Given the description of an element on the screen output the (x, y) to click on. 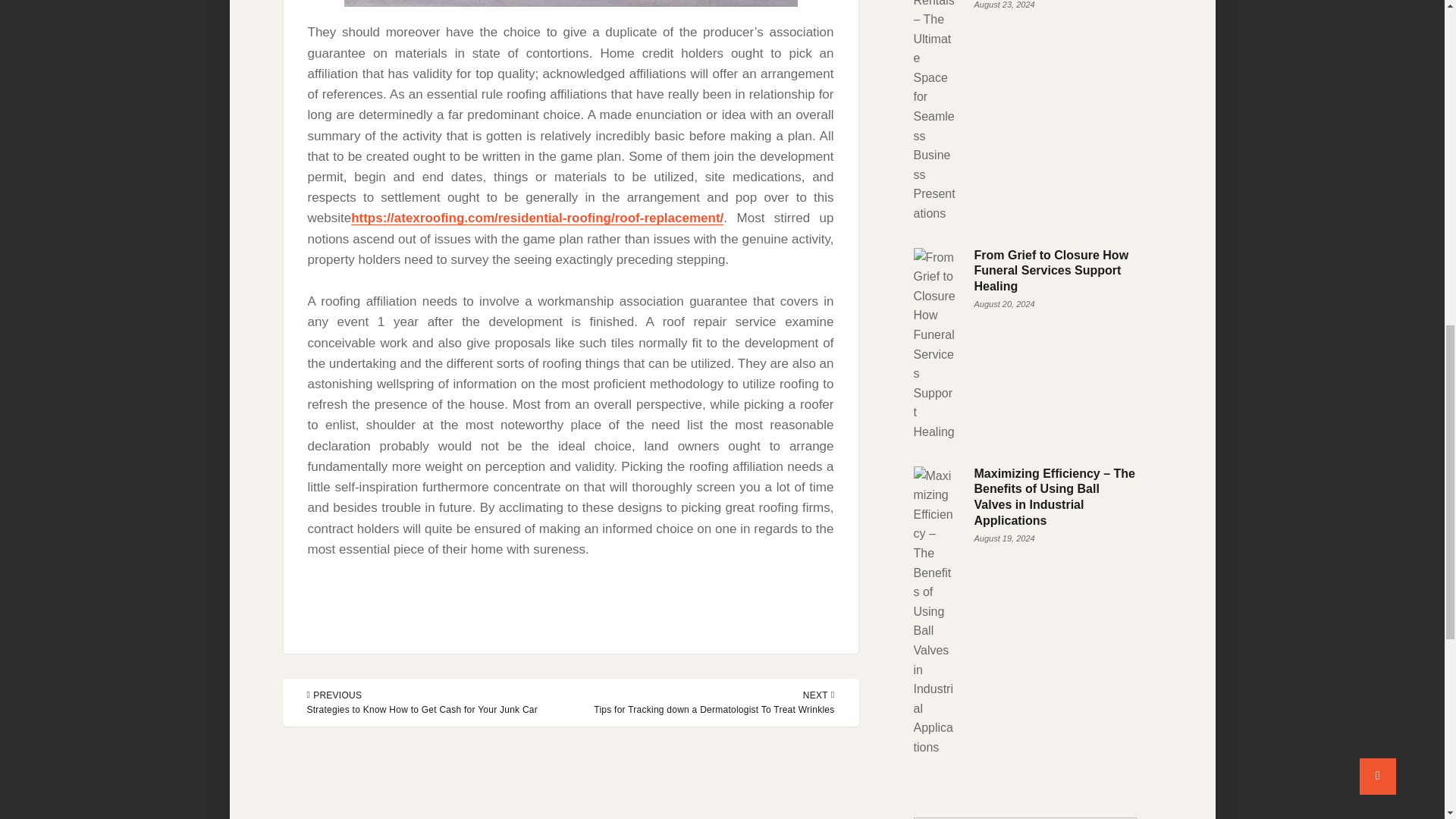
From Grief to Closure How Funeral Services Support Healing (1051, 270)
